Given the description of an element on the screen output the (x, y) to click on. 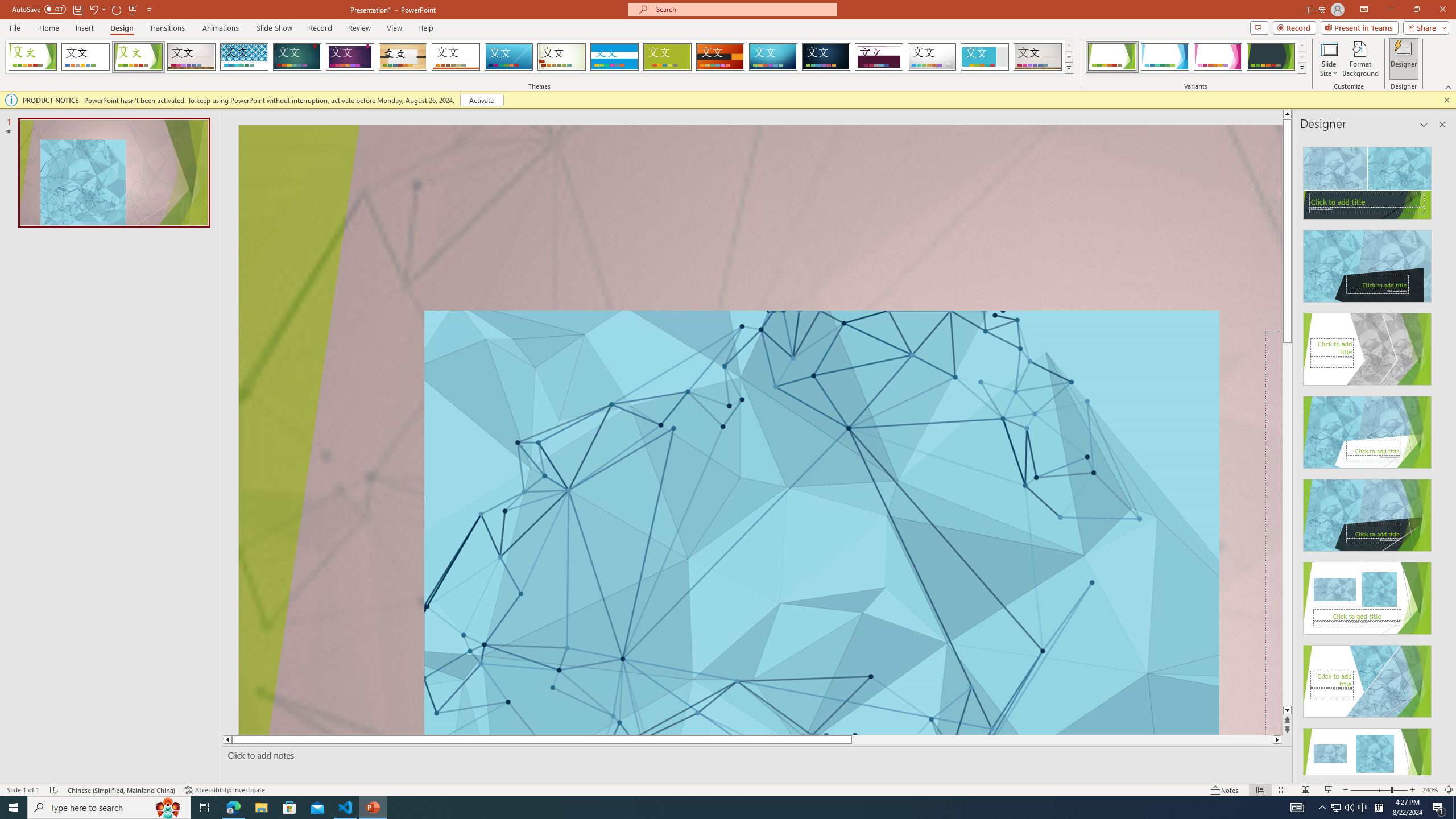
Zoom 240% (1430, 790)
Organic (403, 56)
Facet Variant 1 (1112, 56)
